Given the description of an element on the screen output the (x, y) to click on. 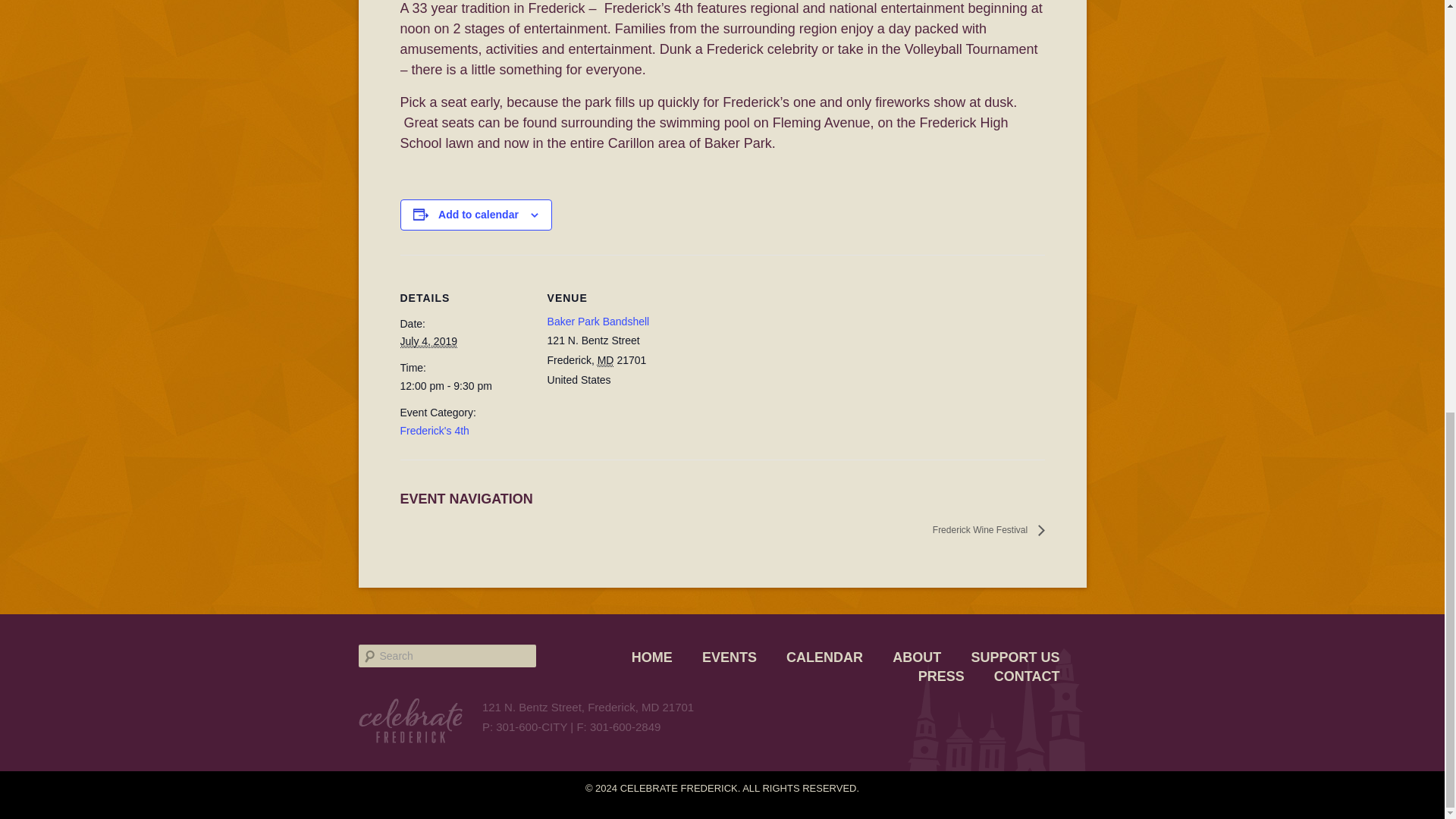
Add to calendar (478, 214)
2019-07-04 (429, 341)
Frederick's 4th (434, 430)
2019-07-04 (464, 386)
Maryland (605, 359)
Baker Park Bandshell (598, 321)
